Given the description of an element on the screen output the (x, y) to click on. 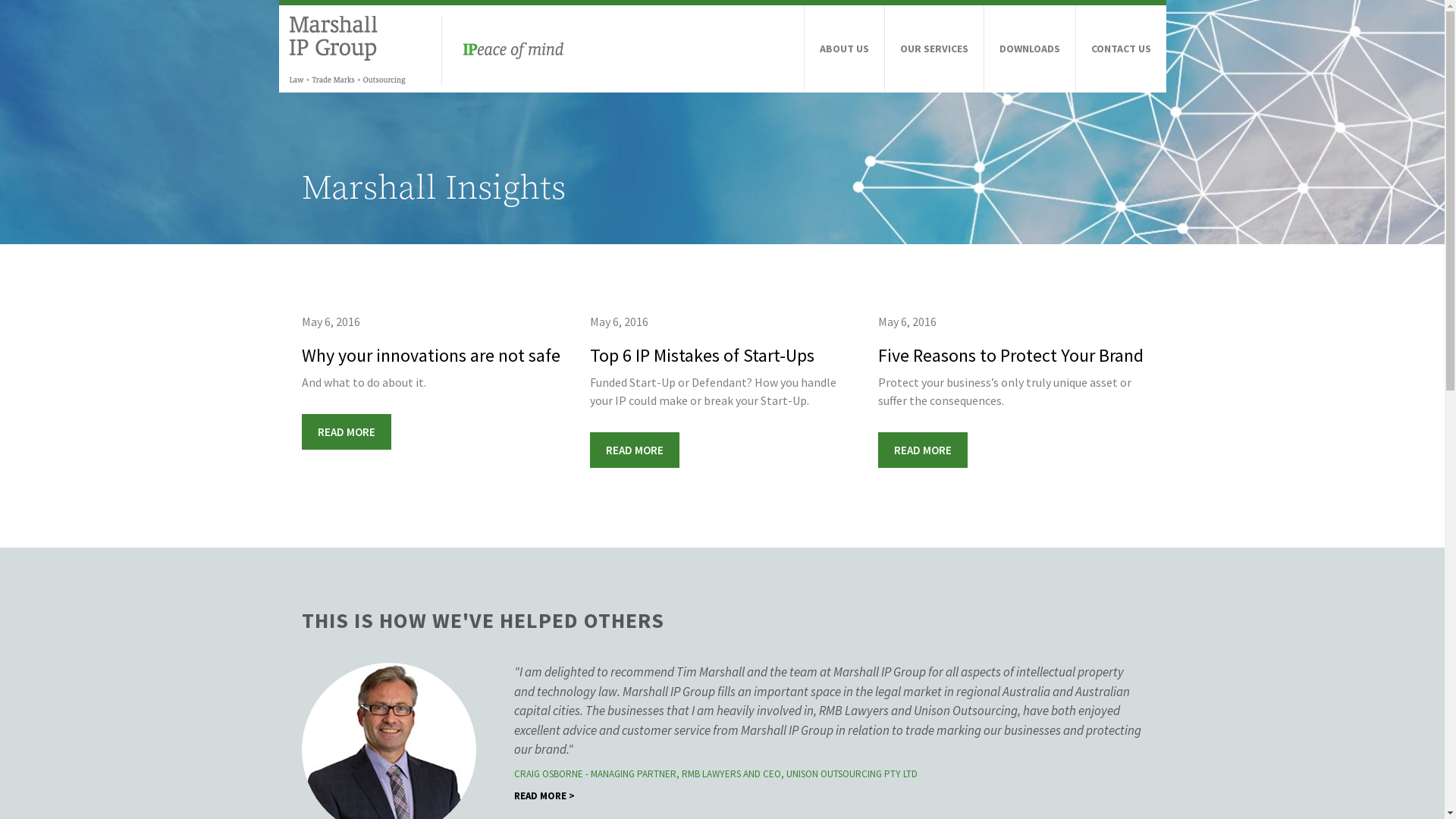
OUR SERVICES Element type: text (933, 48)
DOWNLOADS Element type: text (1029, 48)
Top 6 IP Mistakes of Start-Ups Element type: text (701, 355)
READ MORE Element type: text (346, 431)
Marshall IP Group Element type: hover (425, 47)
Five Reasons to Protect Your Brand Element type: text (1010, 355)
READ MORE Element type: text (634, 449)
ABOUT US Element type: text (843, 48)
Why your innovations are not safe Element type: text (430, 355)
CONTACT US Element type: text (1120, 48)
READ MORE > Element type: text (544, 809)
READ MORE Element type: text (922, 449)
